Given the description of an element on the screen output the (x, y) to click on. 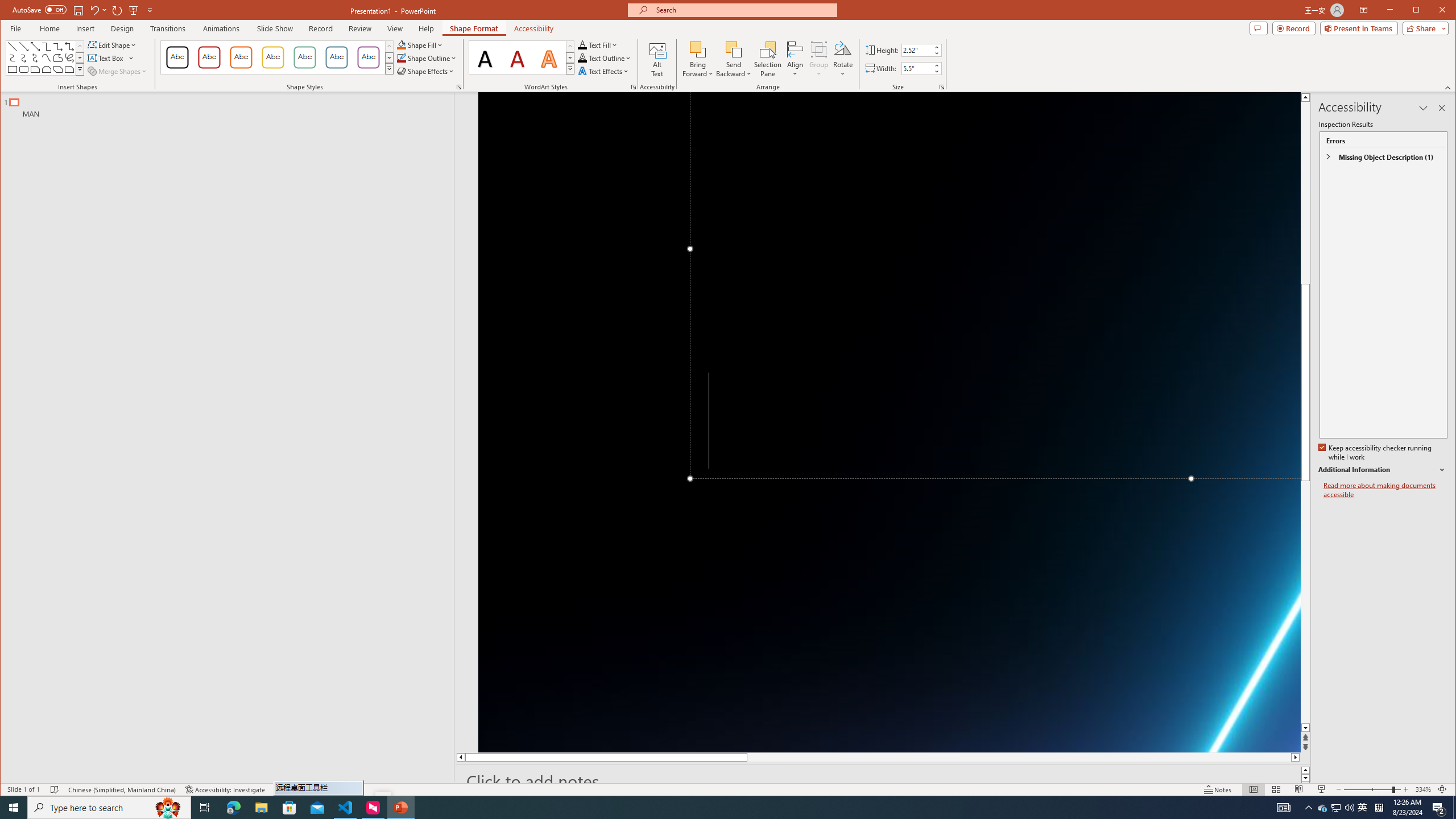
Fill: Black, Text color 1; Shadow (486, 57)
